Given the description of an element on the screen output the (x, y) to click on. 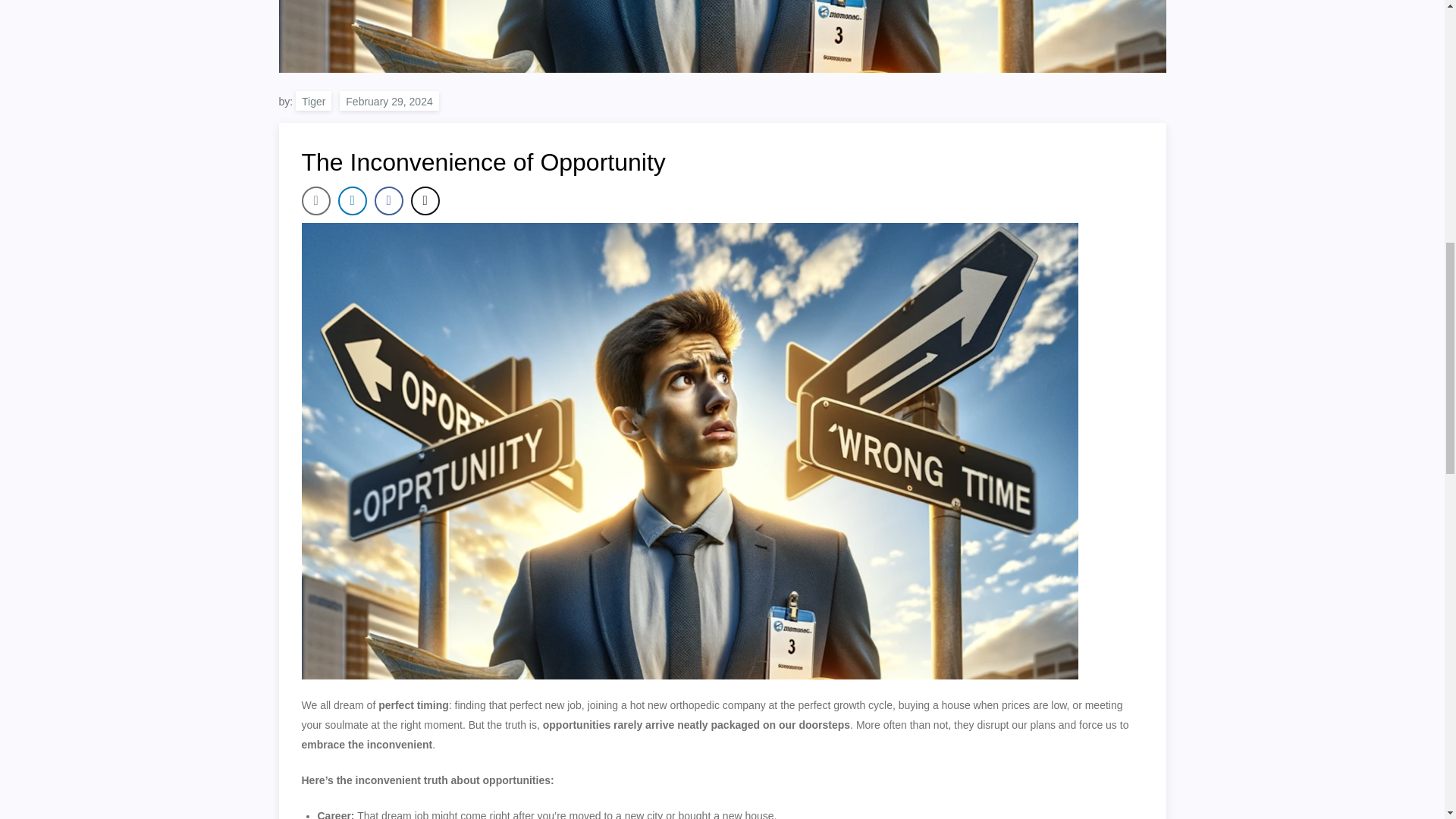
February 29, 2024 (388, 100)
Tiger (313, 100)
